Given the description of an element on the screen output the (x, y) to click on. 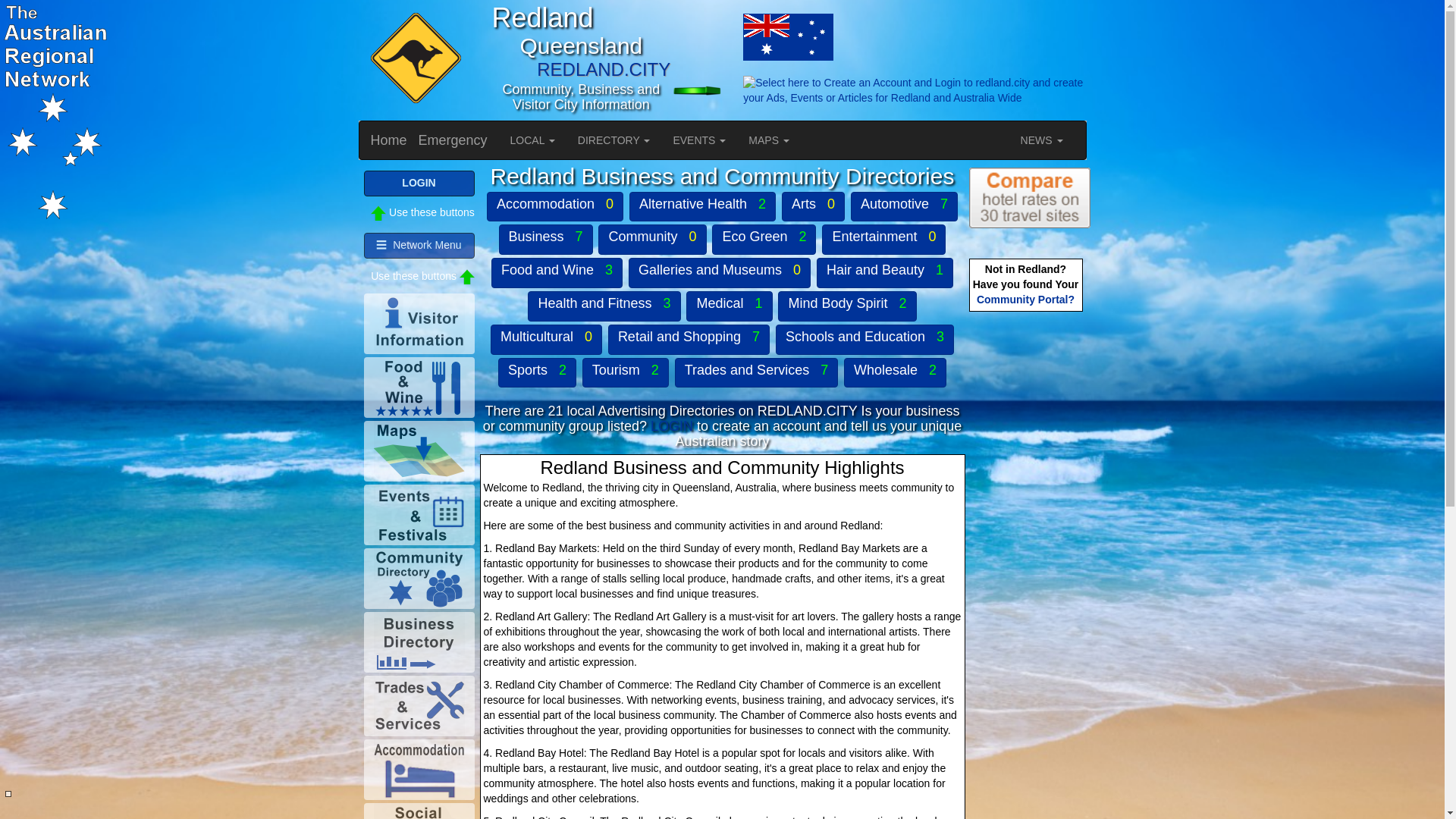
LOCAL (532, 139)
Redland Hotel Search Engine (1029, 197)
Login to redland.city (705, 90)
Home (389, 139)
Emergency (453, 139)
Redland Australia (787, 36)
Redland Skippycoin ICG (413, 59)
Australia (705, 36)
DIRECTORY (614, 139)
